Given the description of an element on the screen output the (x, y) to click on. 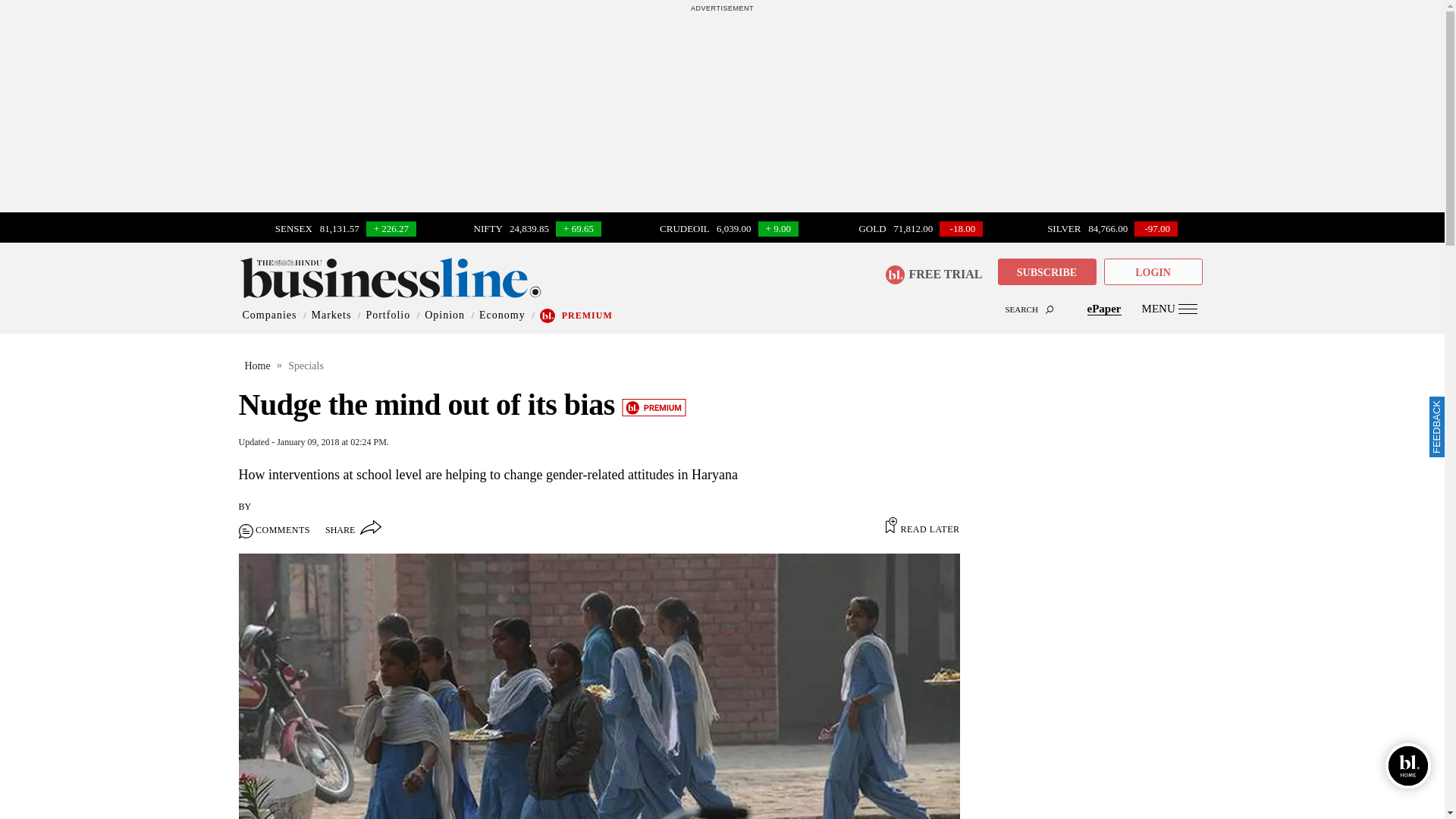
Economy (502, 315)
Companies (270, 315)
SUBSCRIBE (1046, 270)
Portfolio (387, 315)
MENU (1168, 308)
ePaper (1104, 308)
LOGIN (1152, 270)
SUBSCRIBE (1046, 272)
FREE TRIAL (933, 275)
PREMIUM (587, 315)
